Given the description of an element on the screen output the (x, y) to click on. 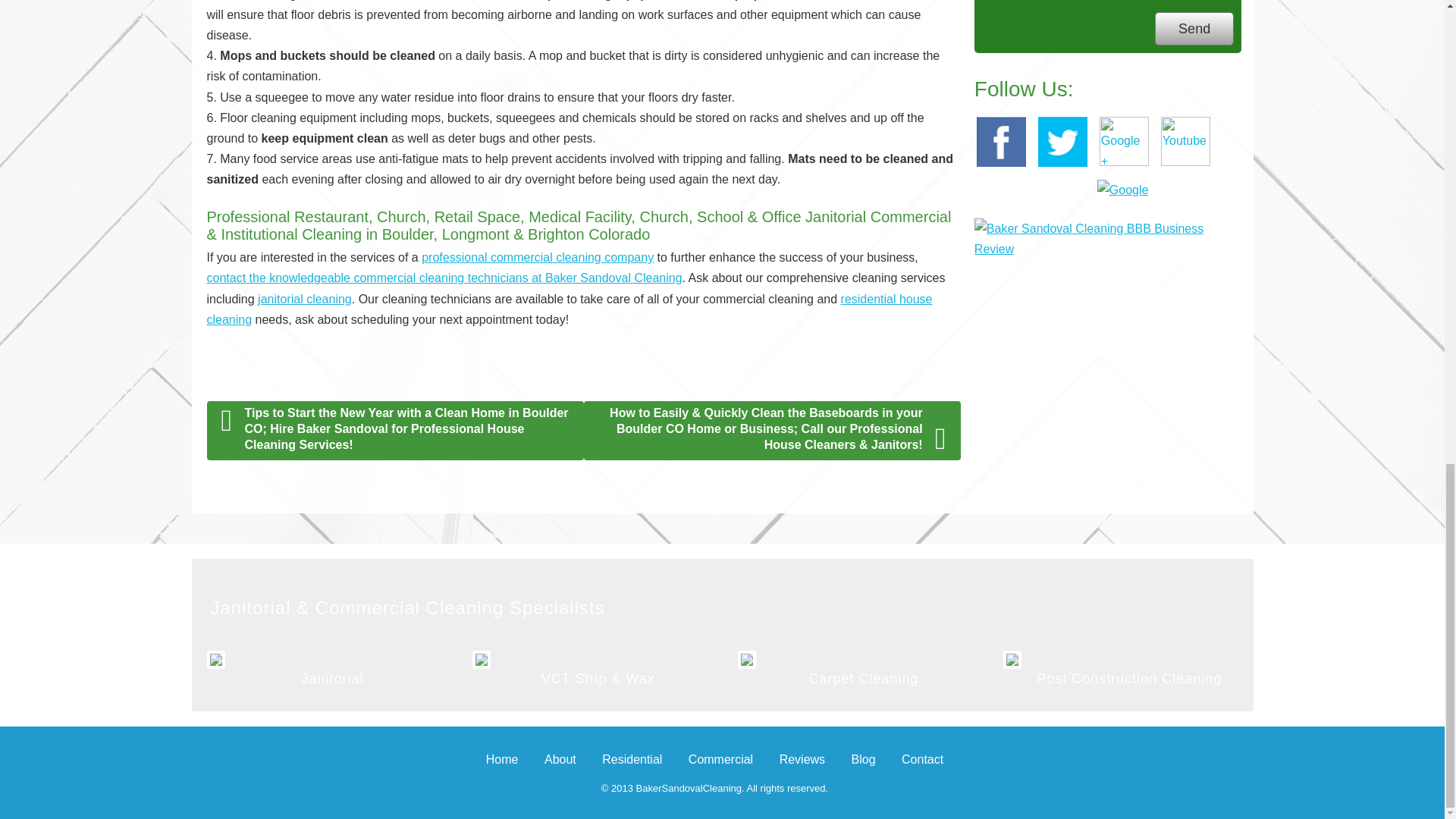
janitorial cleaning (304, 298)
residential house cleaning (568, 308)
professional commercial cleaning company (537, 256)
Send (1193, 28)
